Given the description of an element on the screen output the (x, y) to click on. 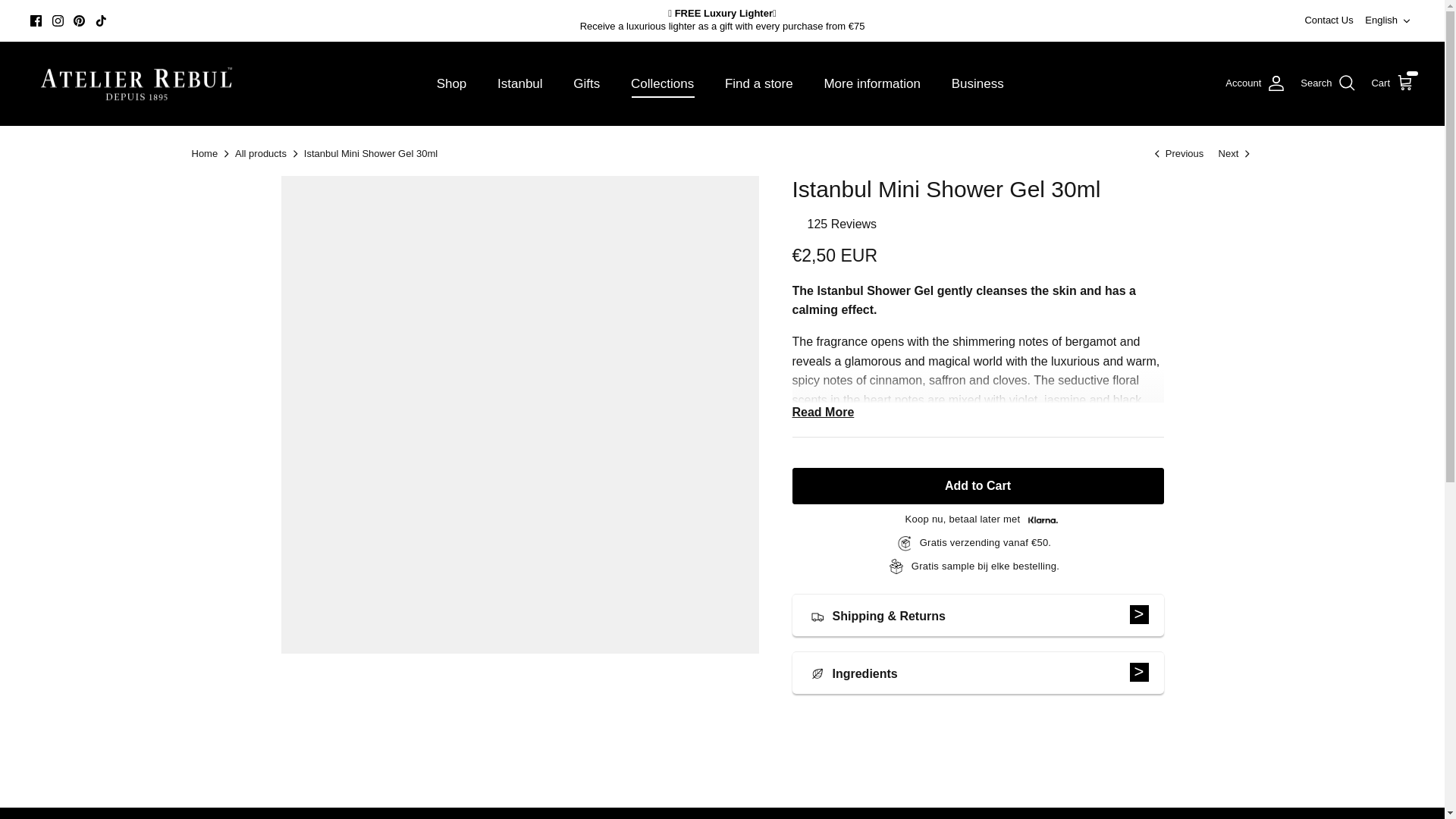
Instagram (58, 20)
Gifts (585, 83)
Istanbul Liquid Soap 250ml (1179, 153)
More information (871, 83)
Search (1327, 83)
Find a store (758, 83)
Contact Us (1328, 20)
Account (1255, 83)
Facebook (36, 20)
